Given the description of an element on the screen output the (x, y) to click on. 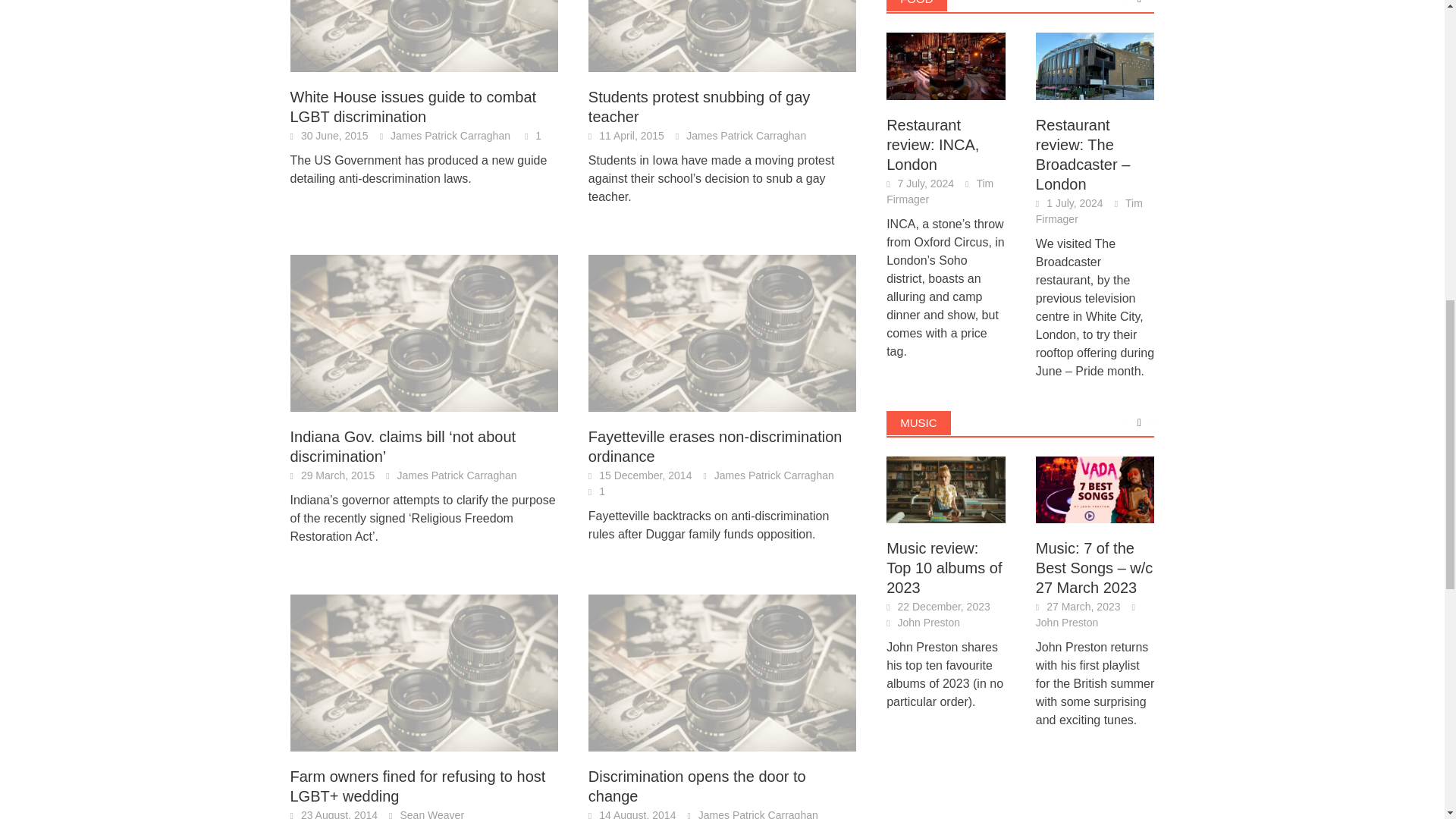
Discrimination opens the door to change (722, 671)
Fayetteville erases non-discrimination ordinance (722, 332)
